Given the description of an element on the screen output the (x, y) to click on. 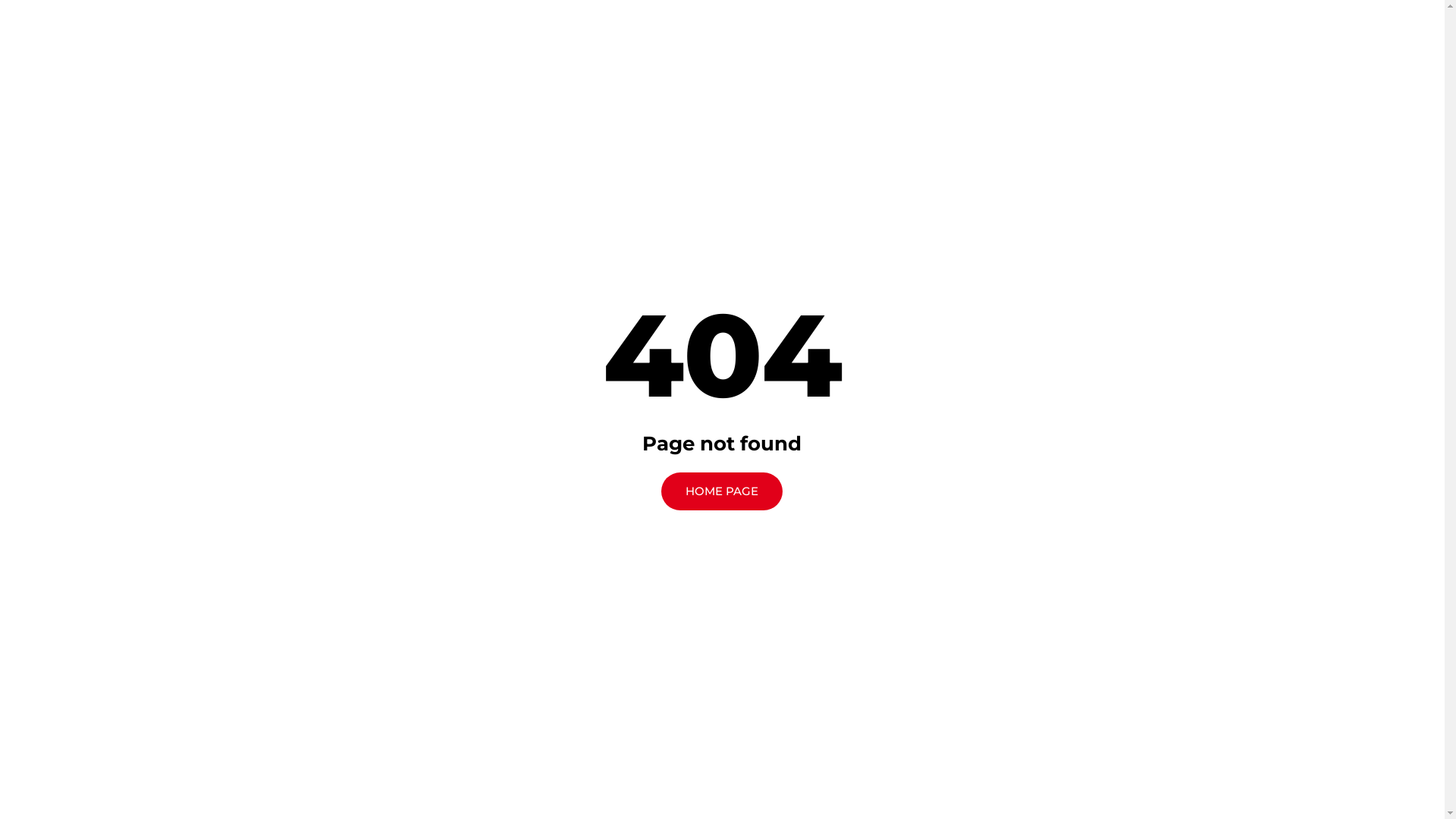
HOME PAGE Element type: text (721, 491)
